Given the description of an element on the screen output the (x, y) to click on. 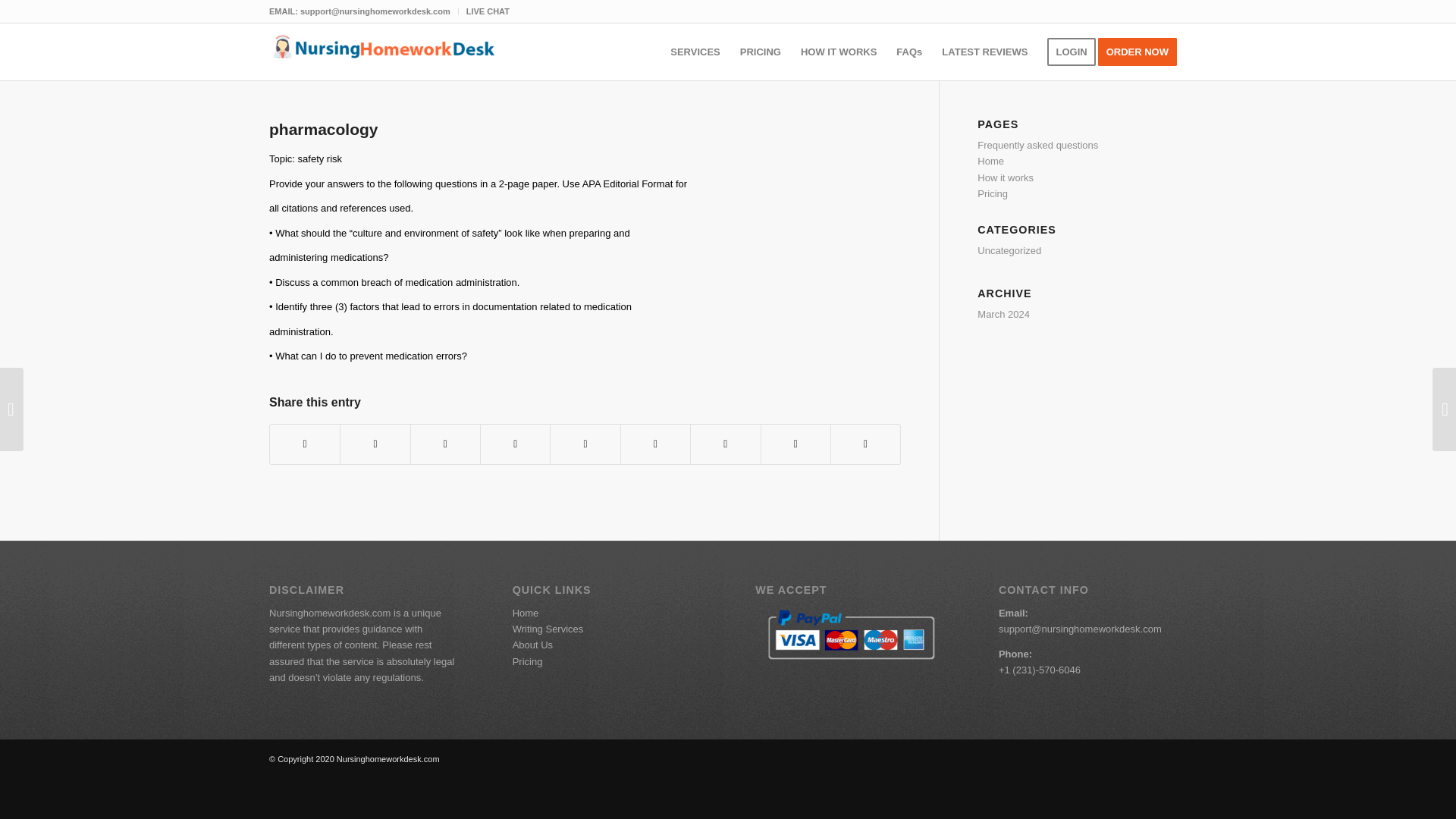
ORDER NOW (1141, 51)
Frequently asked questions (1036, 144)
Home (990, 161)
pharmacology (323, 129)
PRICING (760, 51)
LATEST REVIEWS (983, 51)
Permanent Link: pharmacology (323, 129)
HOW IT WORKS (838, 51)
How it works (1004, 177)
LIVE CHAT (487, 11)
SERVICES (695, 51)
March 2024 (1002, 314)
LOGIN (1070, 51)
Uncategorized (1008, 250)
Pricing (991, 193)
